Given the description of an element on the screen output the (x, y) to click on. 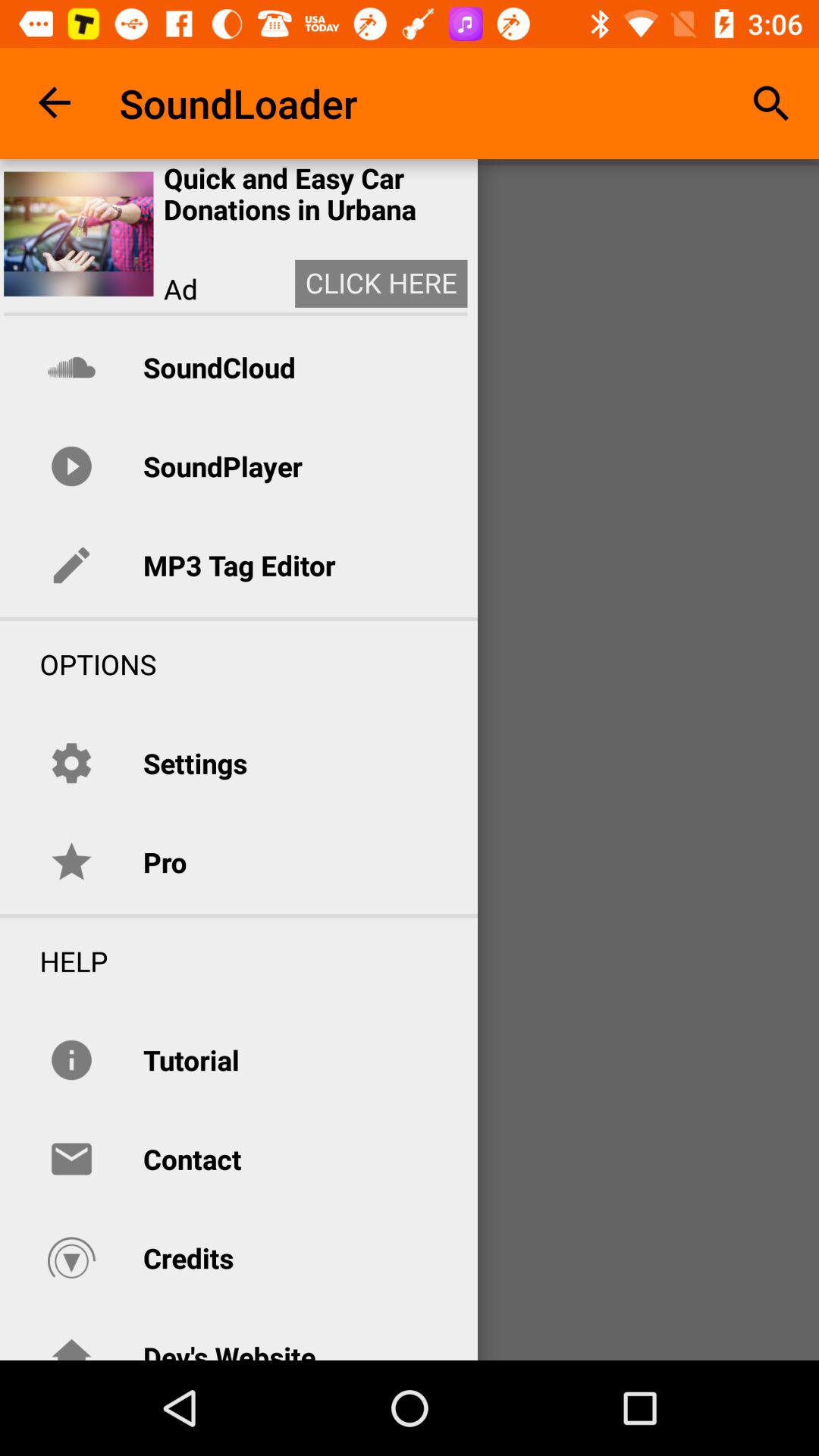
launch the item to the left of the quick and easy icon (78, 233)
